Given the description of an element on the screen output the (x, y) to click on. 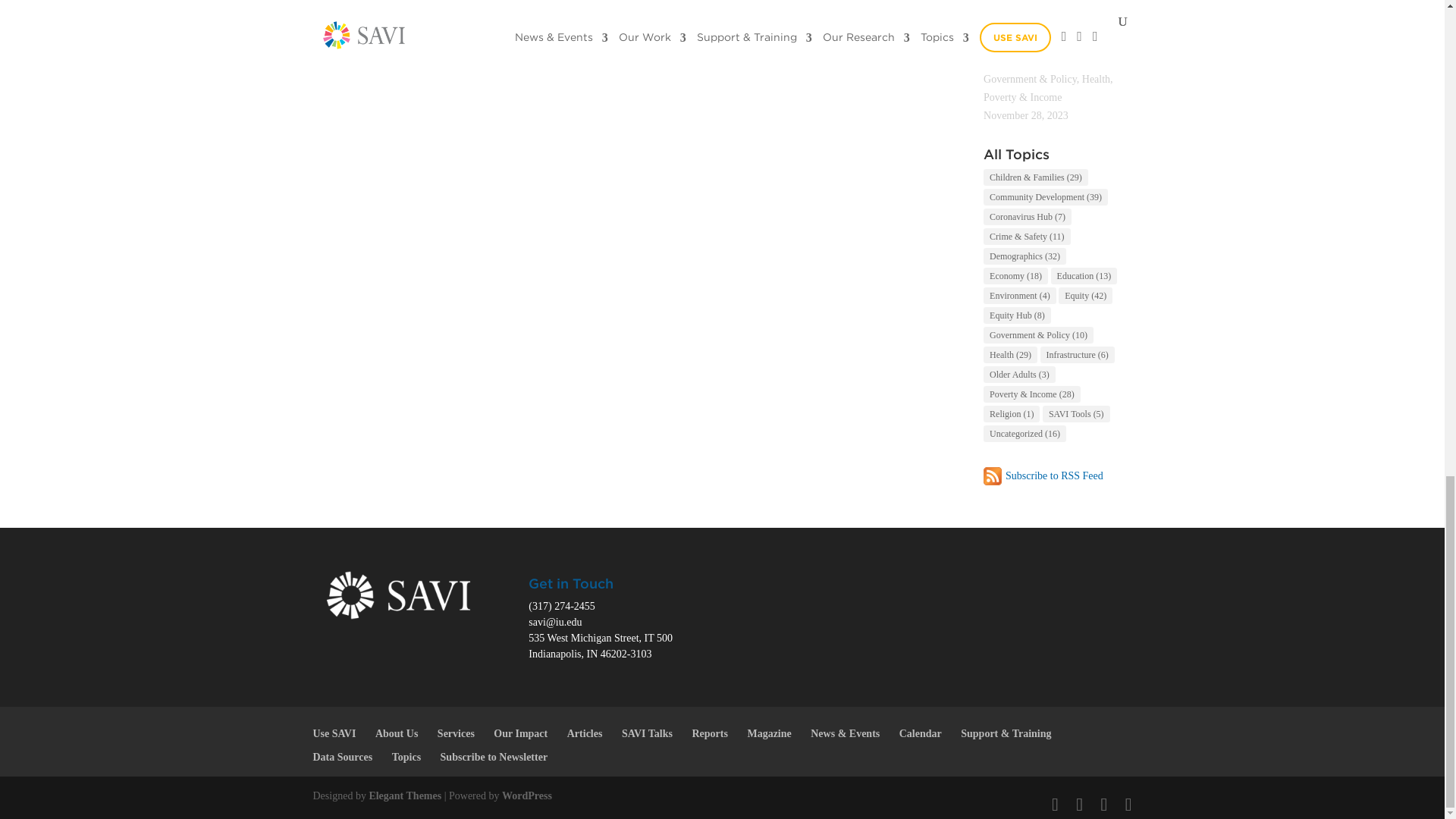
Premium WordPress Themes (404, 795)
